Given the description of an element on the screen output the (x, y) to click on. 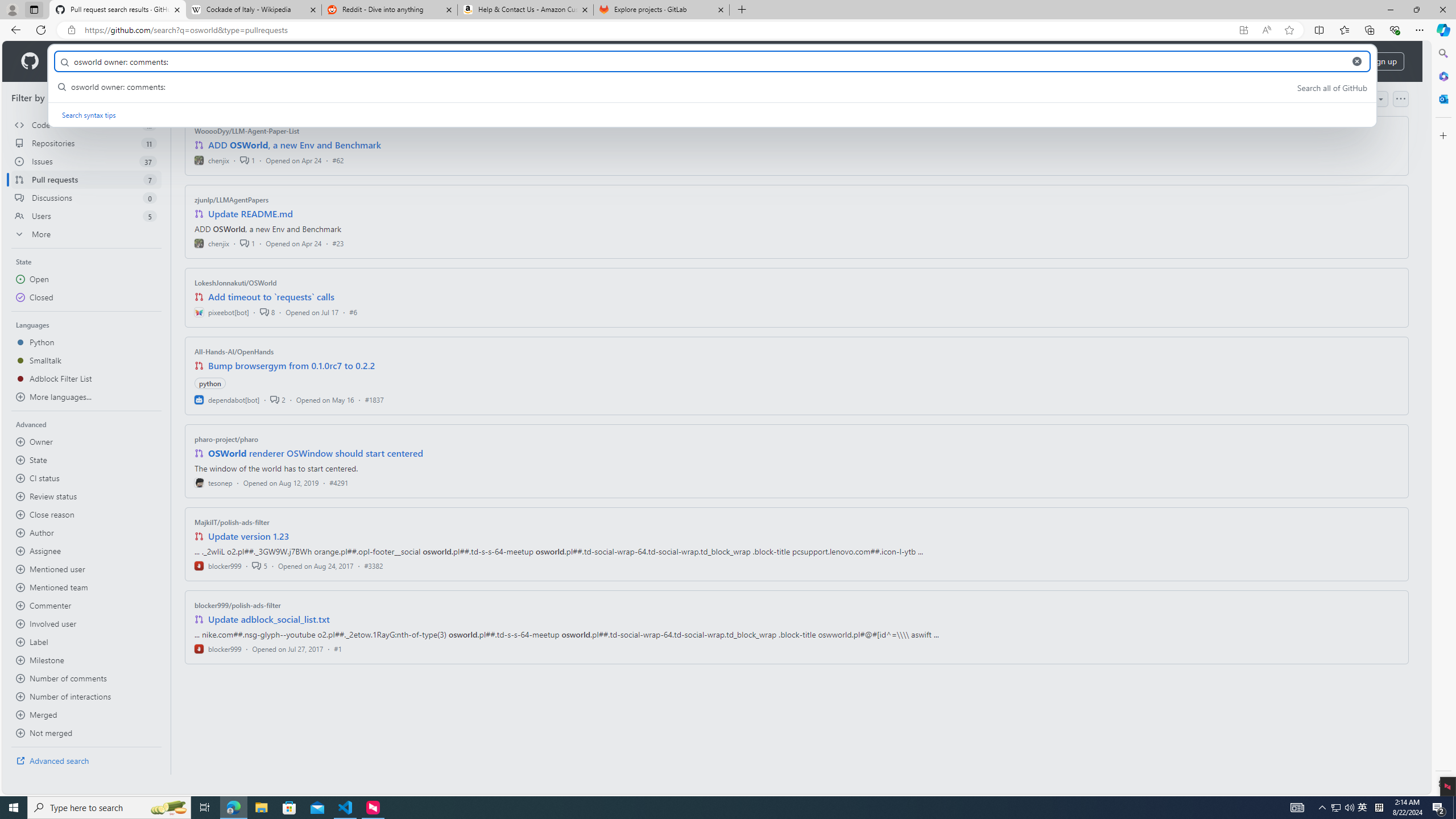
Advanced search (86, 760)
Resources (187, 60)
#1 (337, 648)
Product (74, 60)
More languages... (86, 397)
Product (74, 60)
